Given the description of an element on the screen output the (x, y) to click on. 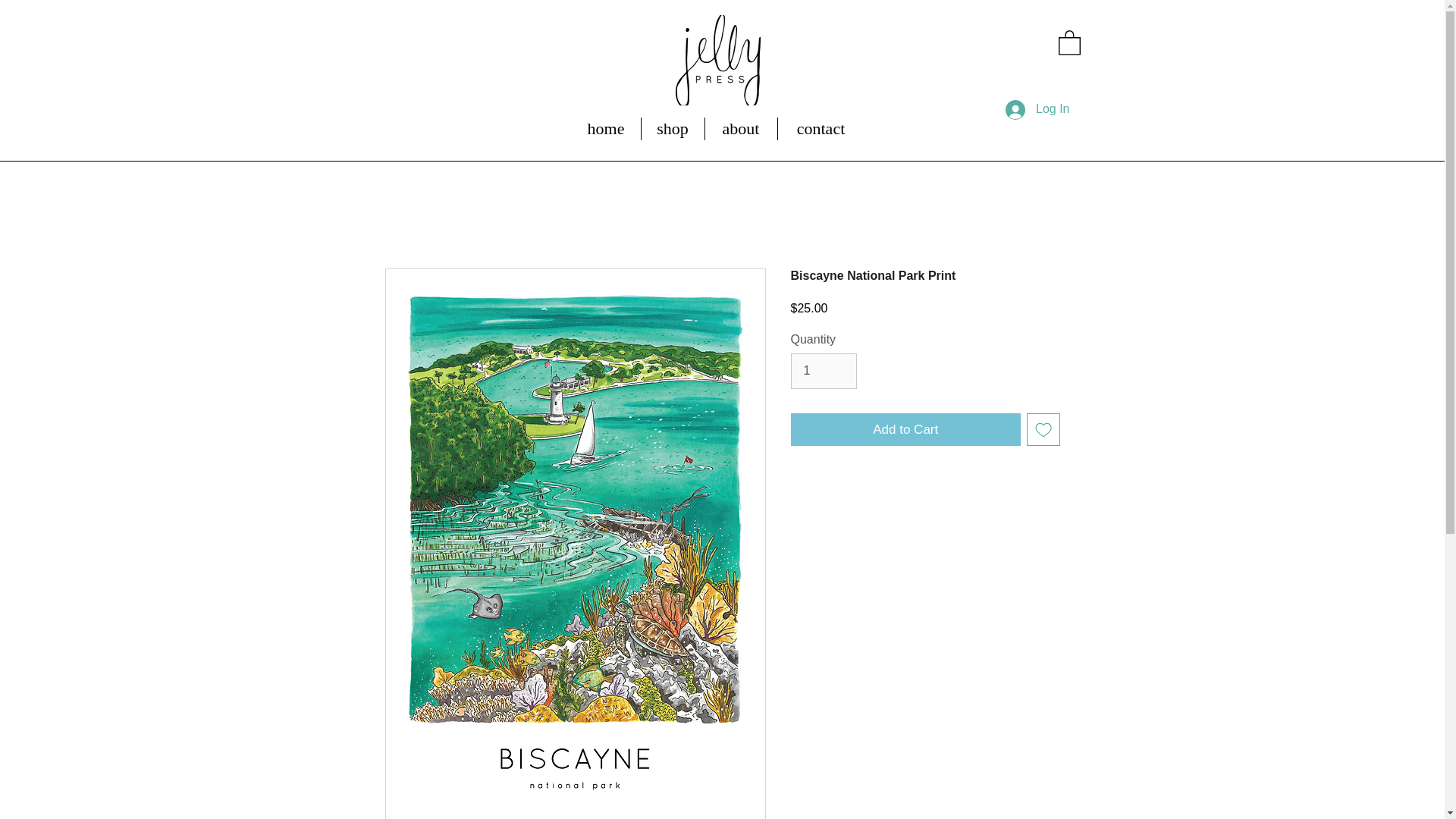
contact (820, 128)
Log In (1037, 109)
home (606, 128)
about (740, 128)
shop (673, 128)
Add to Cart (905, 429)
1 (823, 370)
